Given the description of an element on the screen output the (x, y) to click on. 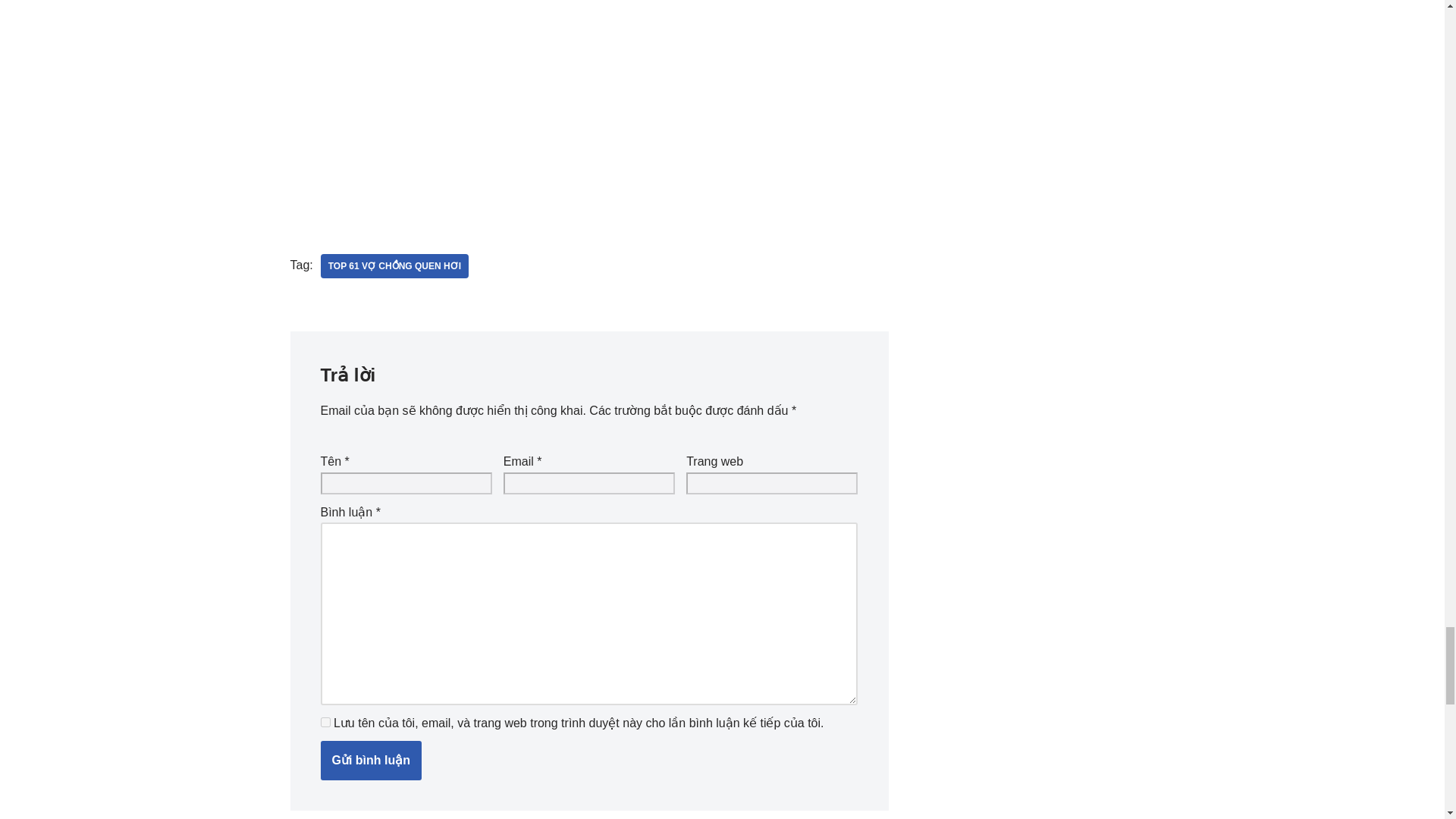
yes (325, 722)
